Given the description of an element on the screen output the (x, y) to click on. 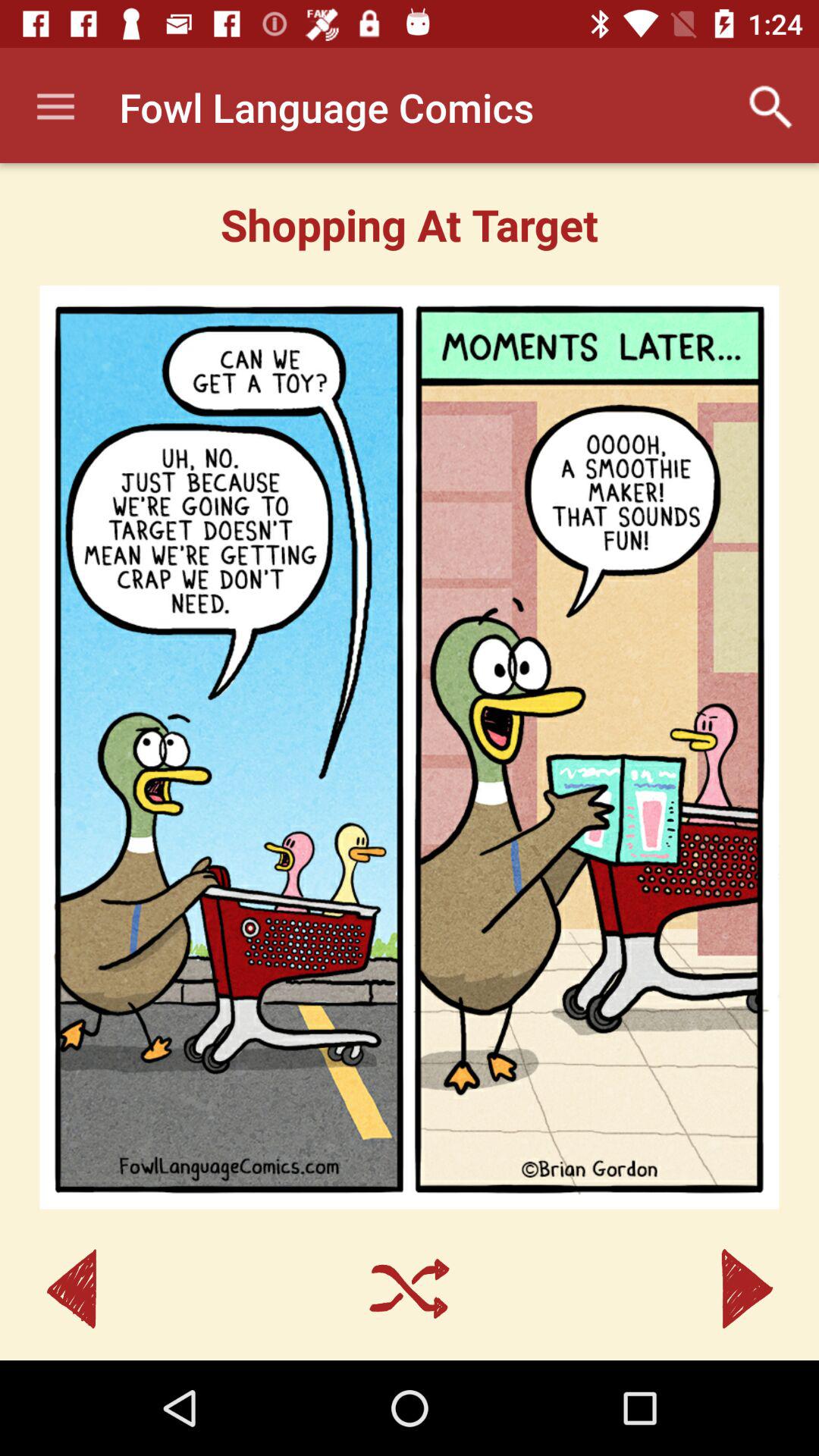
press icon next to the fowl language comics (771, 107)
